Given the description of an element on the screen output the (x, y) to click on. 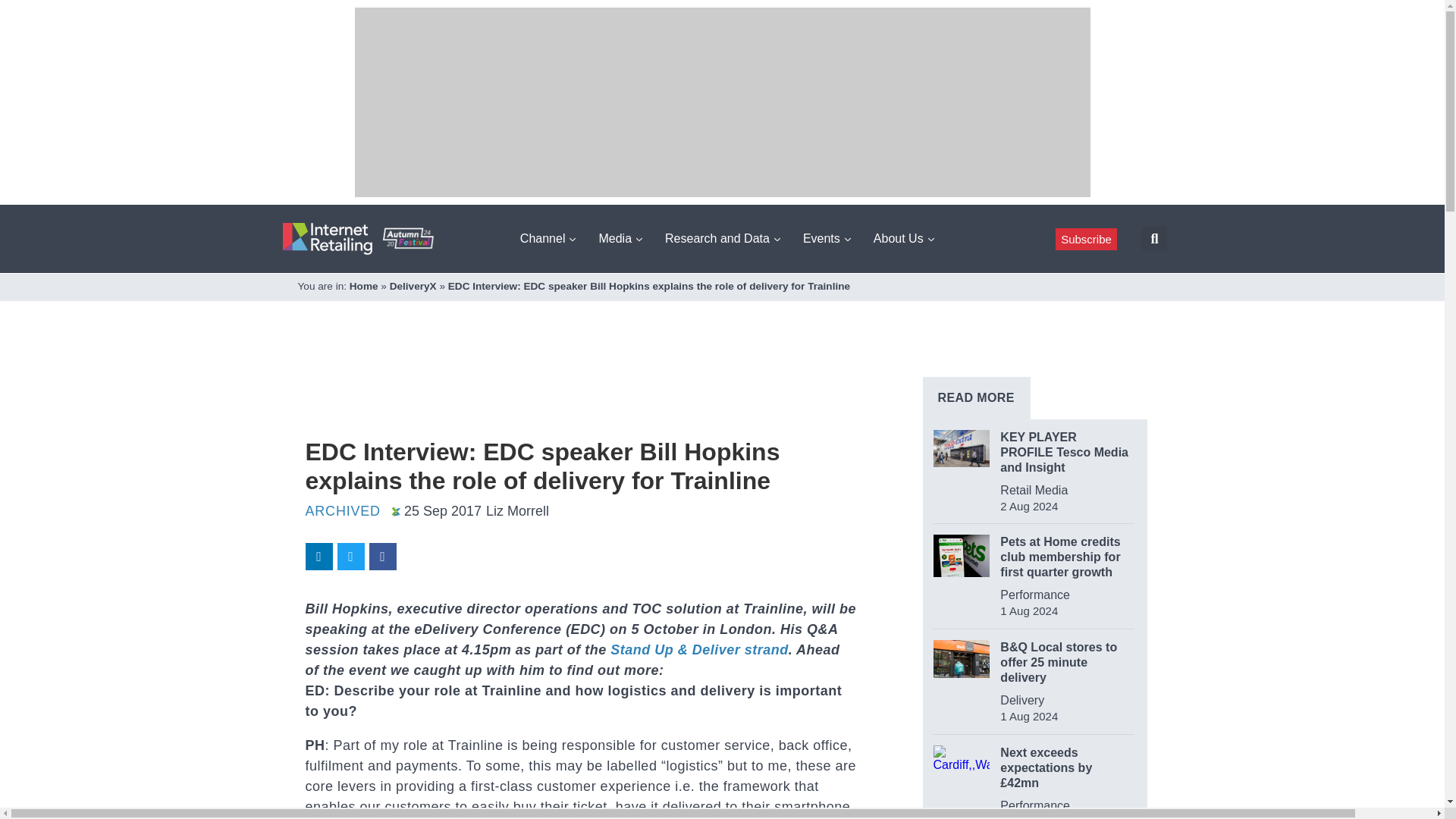
Research and Data (722, 238)
Media (620, 238)
Channel (547, 238)
